Given the description of an element on the screen output the (x, y) to click on. 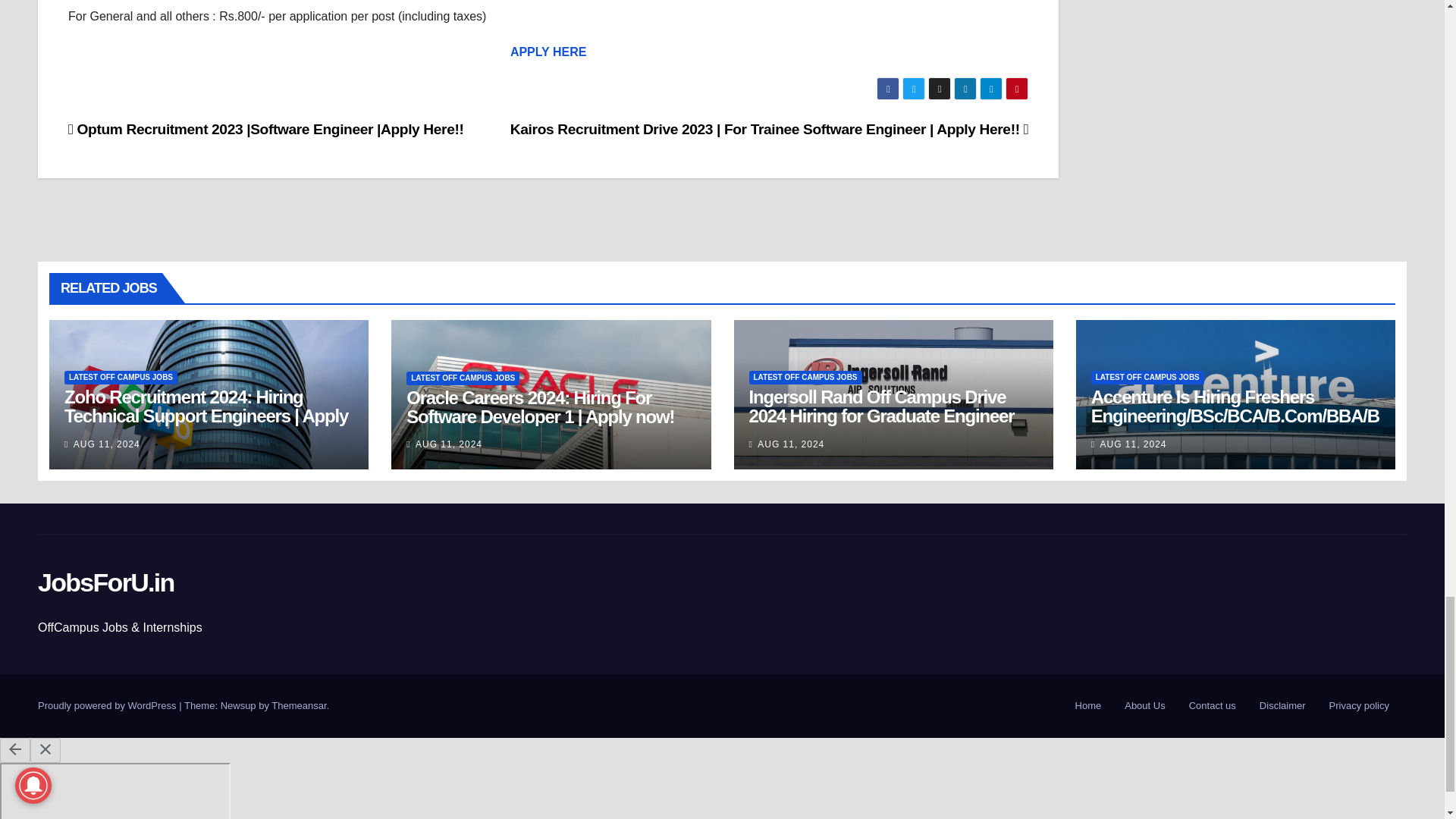
APPLY HERE (548, 51)
AUG 11, 2024 (447, 443)
LATEST OFF CAMPUS JOBS (805, 377)
AUG 11, 2024 (106, 443)
LATEST OFF CAMPUS JOBS (120, 377)
LATEST OFF CAMPUS JOBS (462, 377)
